Given the description of an element on the screen output the (x, y) to click on. 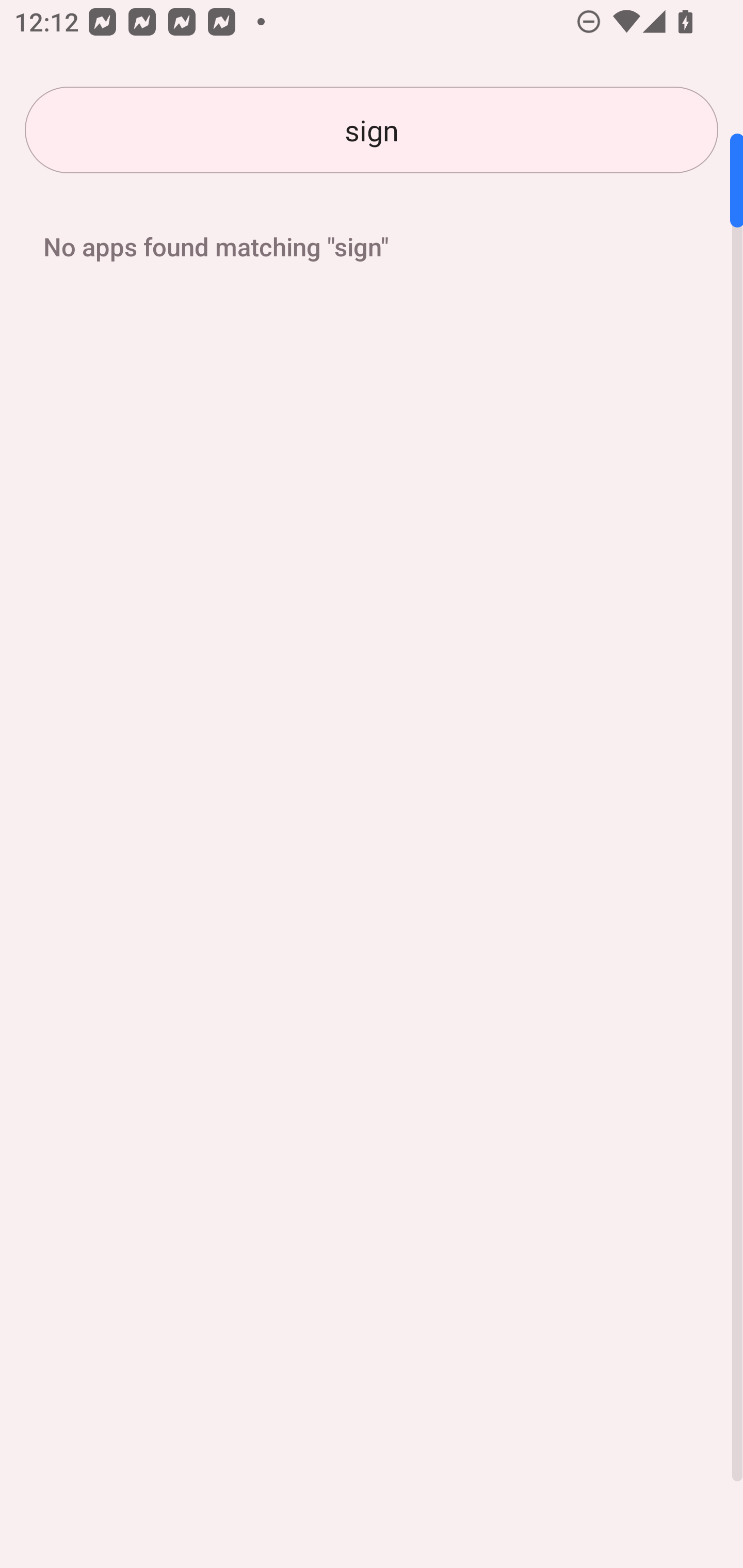
sign (371, 130)
